Given the description of an element on the screen output the (x, y) to click on. 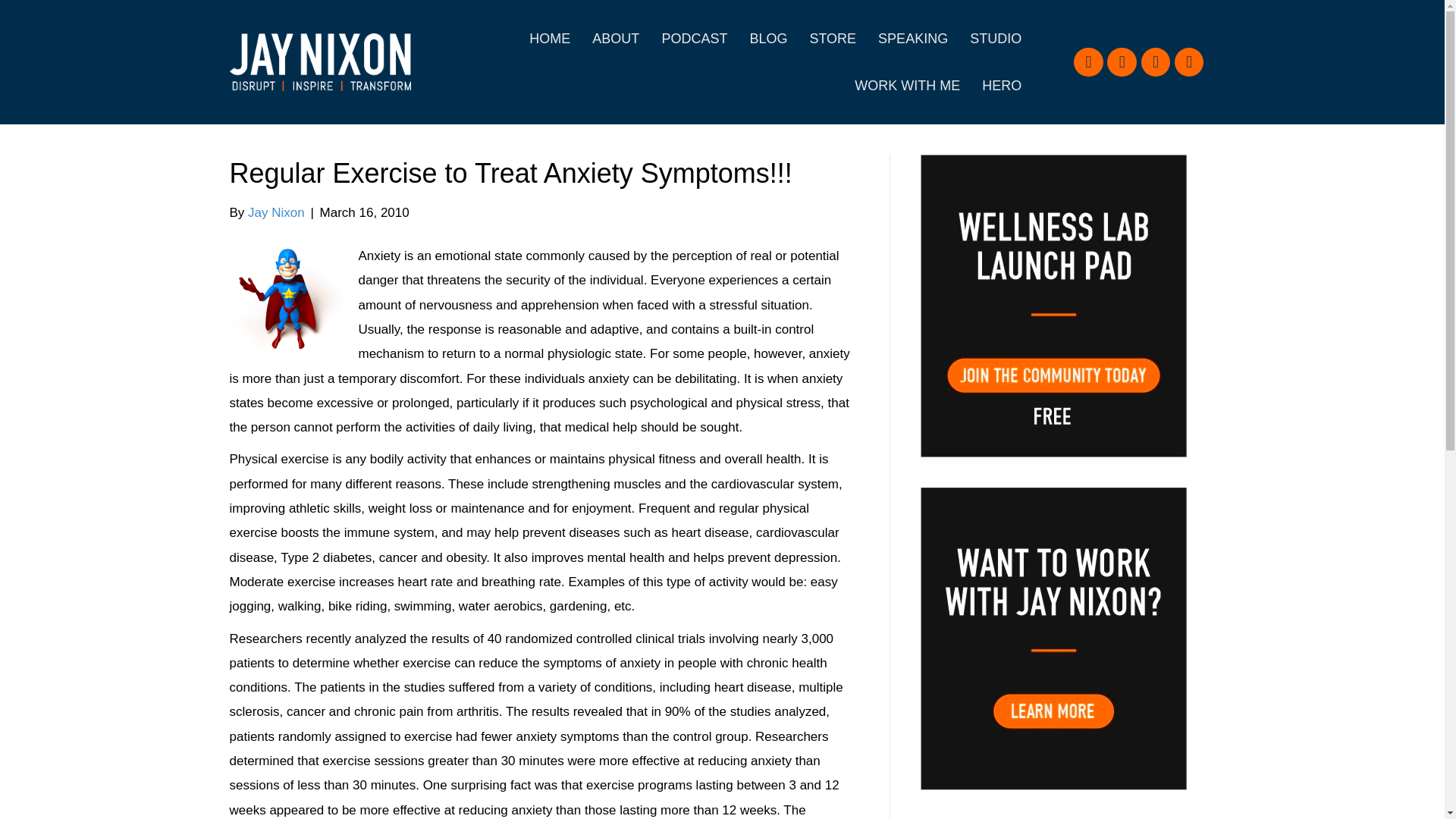
Nixon Elite (285, 299)
WORK WITH ME (907, 85)
HOME (549, 38)
logo (319, 61)
STUDIO (995, 38)
ABOUT (614, 38)
STORE (831, 38)
Jay Nixon (275, 212)
HERO (1001, 85)
PODCAST (694, 38)
